Given the description of an element on the screen output the (x, y) to click on. 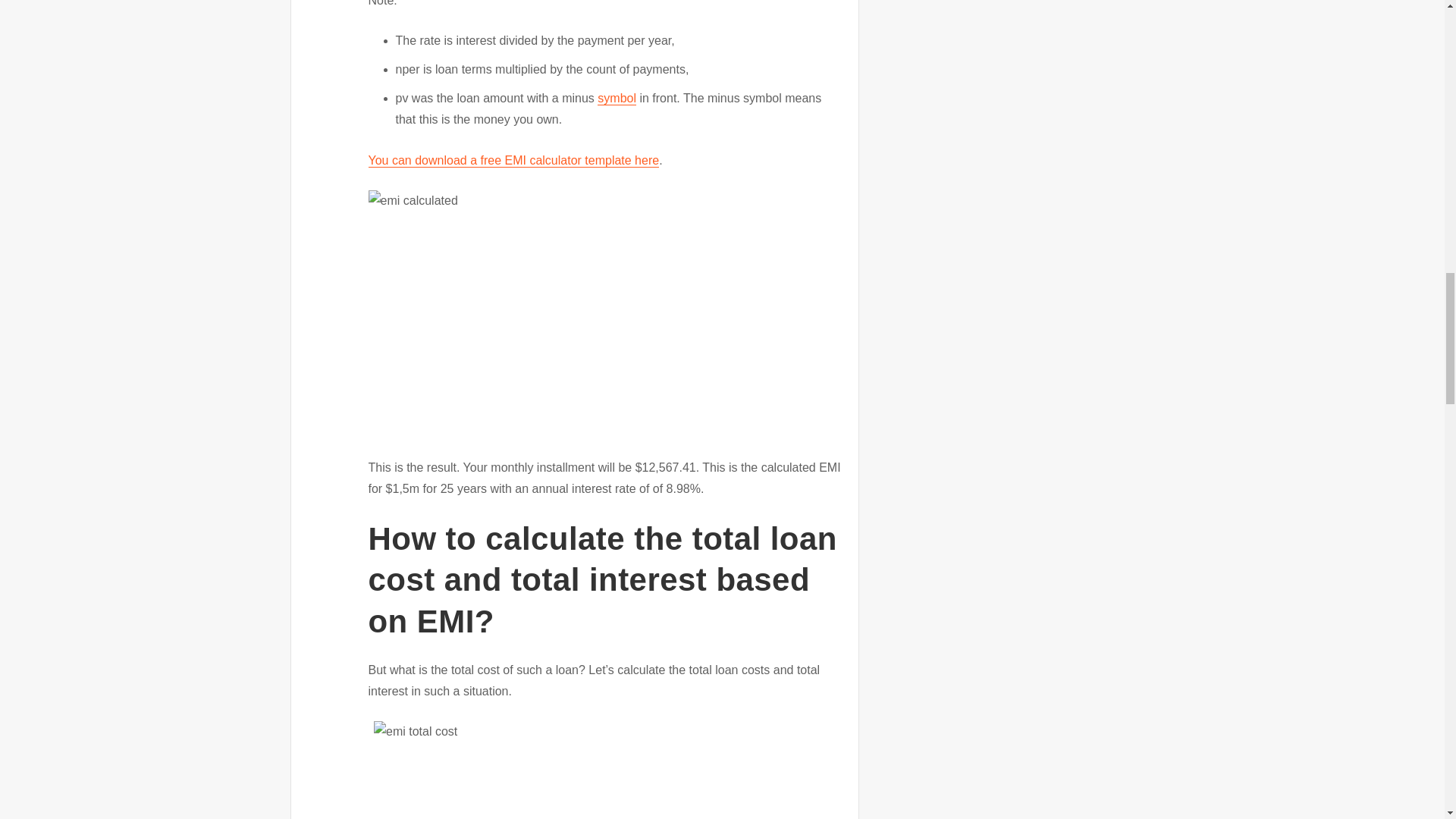
You can download a free EMI calculator template here (513, 160)
symbol (616, 97)
Github (513, 160)
